Given the description of an element on the screen output the (x, y) to click on. 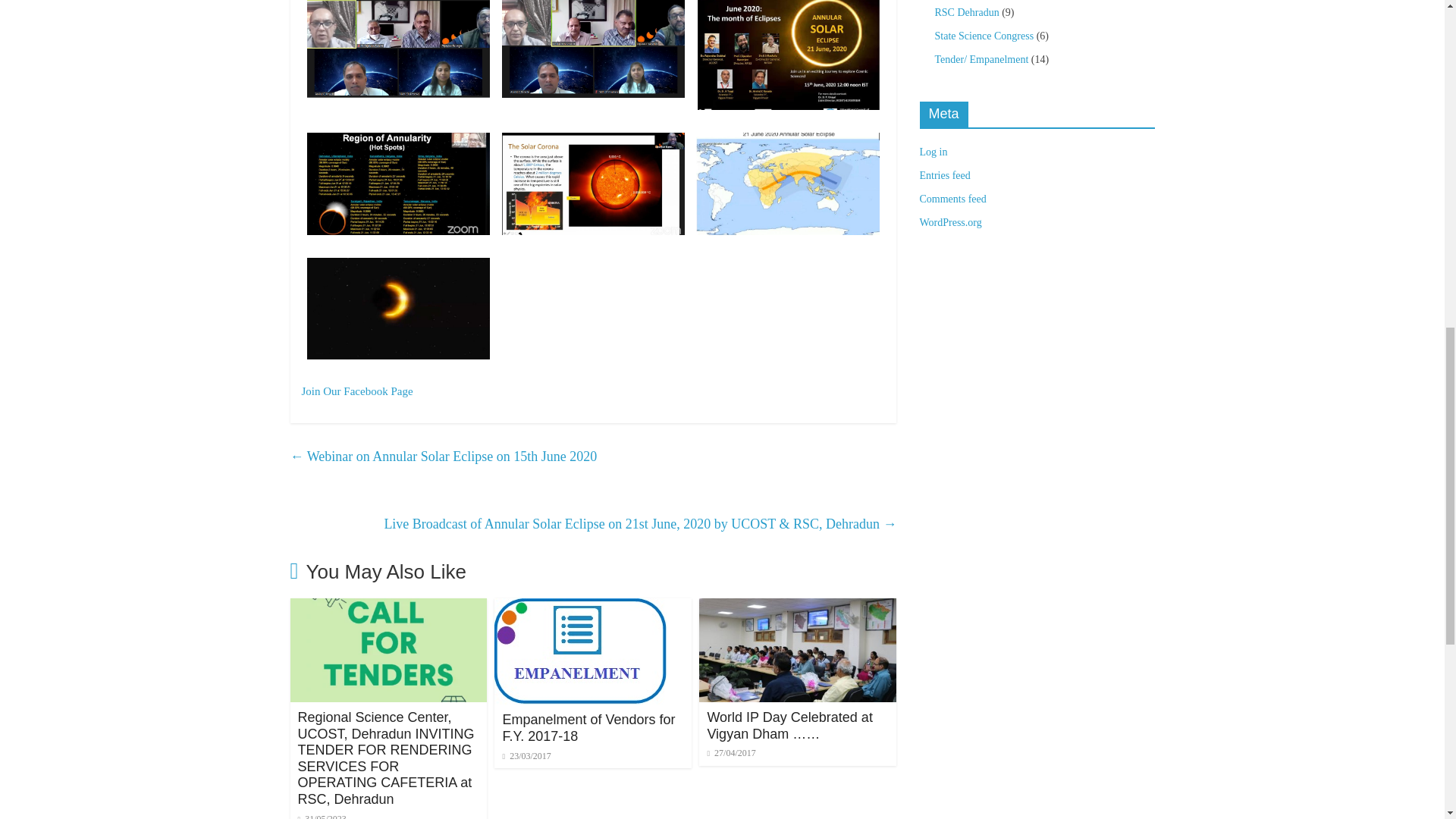
Join Our Facebook Page (357, 390)
Empanelment of Vendors for F.Y. 2017-18 (580, 607)
10:17 am (526, 756)
5:56 pm (321, 816)
Empanelment of Vendors for F.Y. 2017-18 (588, 727)
